Given the description of an element on the screen output the (x, y) to click on. 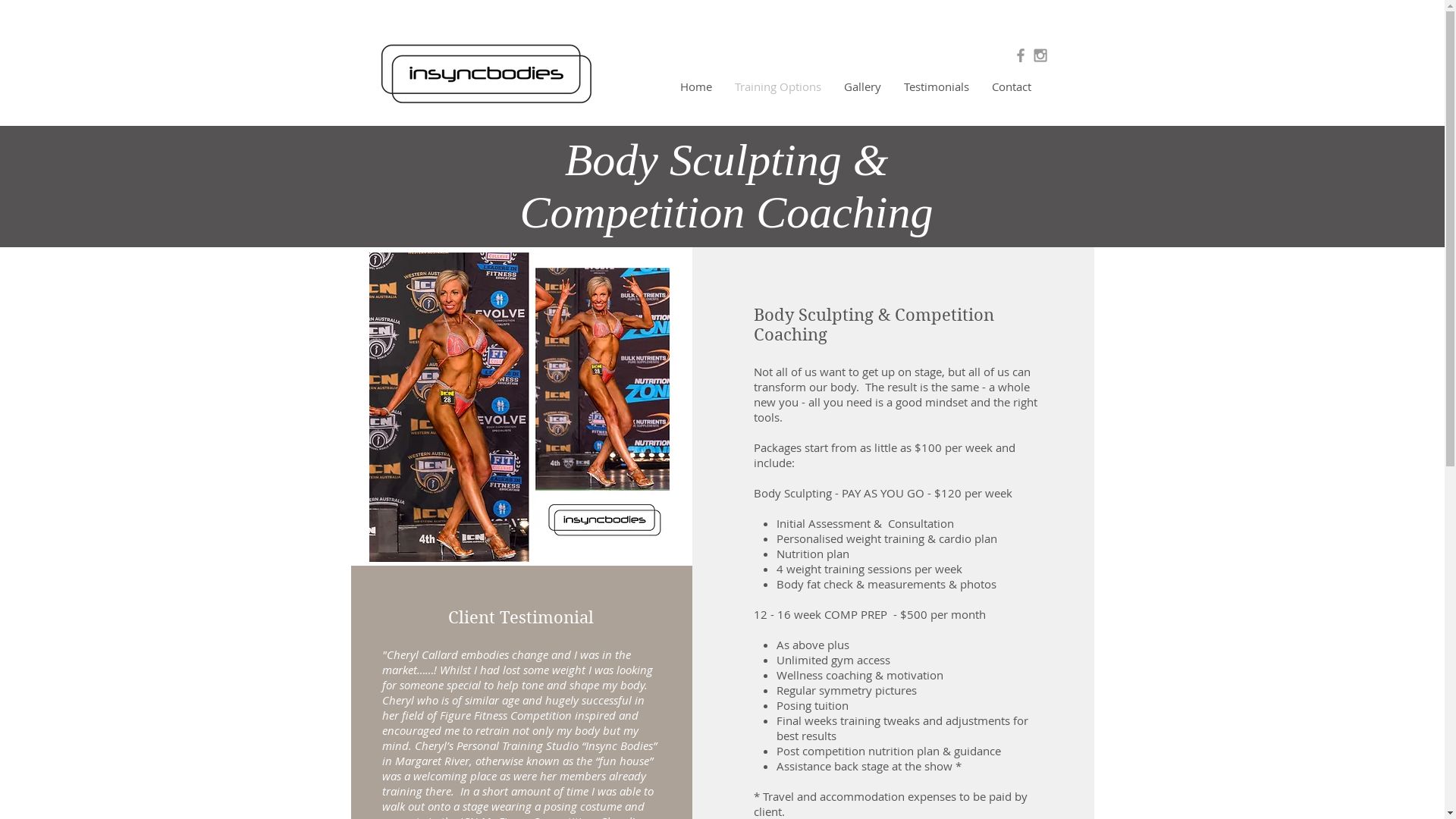
Loz Transformation.jpg Element type: hover (520, 406)
Home Element type: text (695, 86)
Training Options Element type: text (777, 86)
Contact Element type: text (1010, 86)
Gallery Element type: text (862, 86)
Testimonials Element type: text (935, 86)
